Given the description of an element on the screen output the (x, y) to click on. 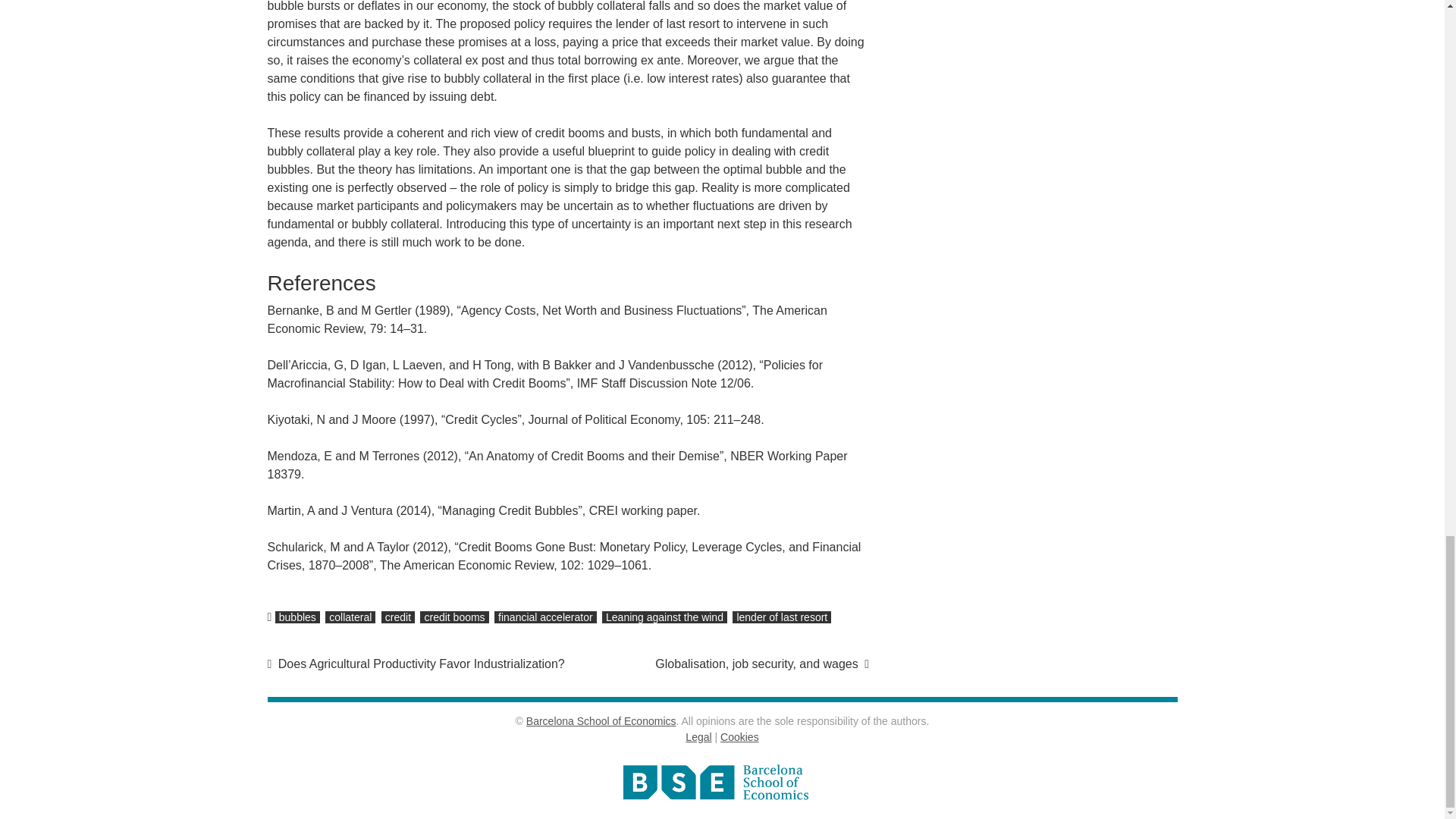
Leaning against the wind (664, 616)
Cookies (739, 736)
collateral (349, 616)
credit booms (453, 616)
Globalisation, job security, and wages (762, 663)
lender of last resort (781, 616)
Does Agricultural Productivity Favor Industrialization? (415, 663)
financial accelerator (545, 616)
credit (397, 616)
Legal (698, 736)
Barcelona School of Economics (601, 720)
bubbles (297, 616)
